Given the description of an element on the screen output the (x, y) to click on. 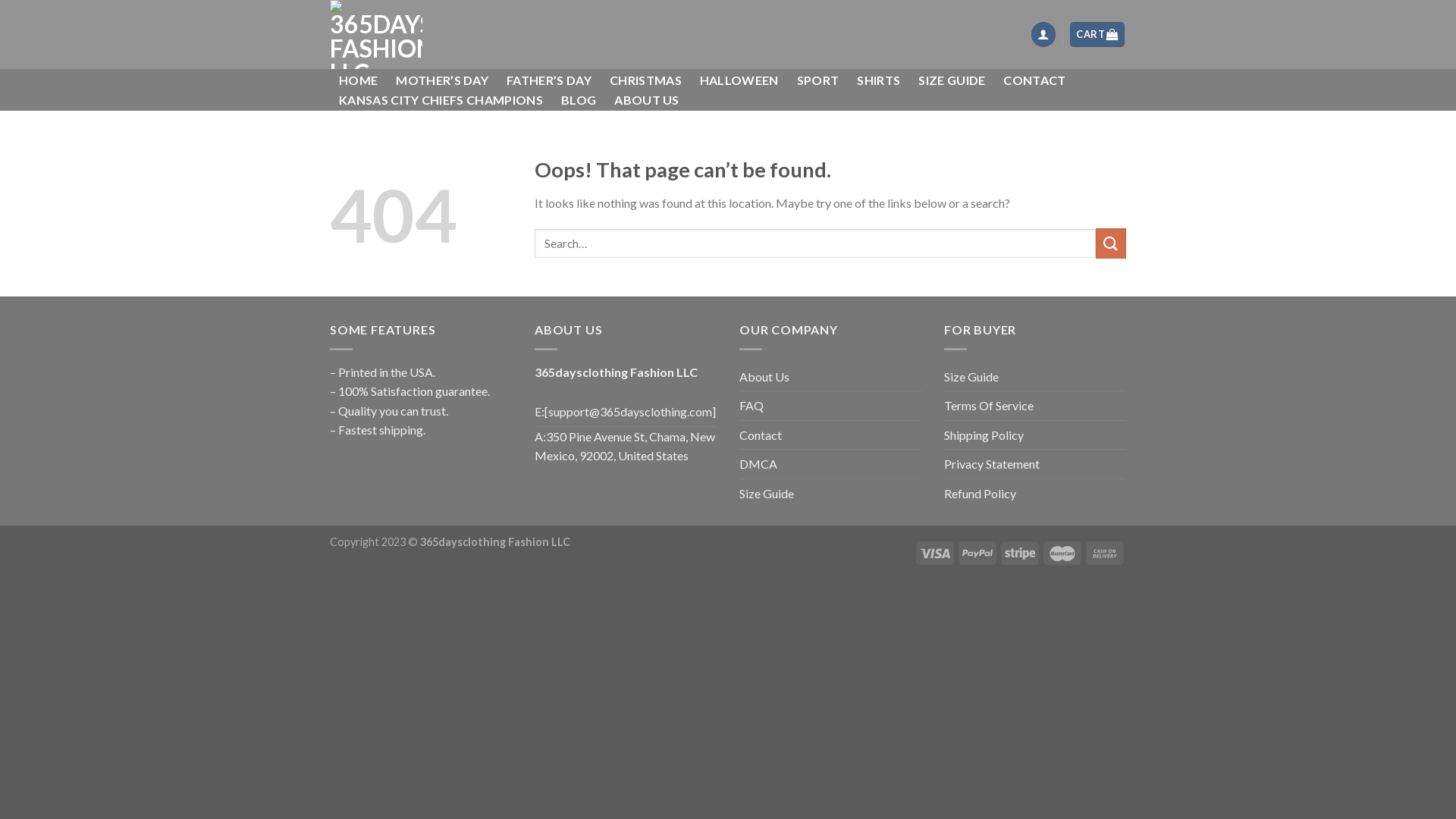
Privacy Statement Element type: text (991, 463)
Refund Policy Element type: text (980, 493)
DMCA Element type: text (758, 463)
About Us Element type: text (764, 376)
CONTACT Element type: text (1034, 80)
CHRISTMAS Element type: text (645, 80)
HOME Element type: text (357, 80)
SIZE GUIDE Element type: text (951, 80)
CART Element type: text (1097, 34)
SPORT Element type: text (817, 80)
KANSAS CITY CHIEFS CHAMPIONS Element type: text (440, 100)
Size Guide Element type: text (766, 493)
ABOUT US Element type: text (646, 100)
[support@365daysclothing.com] Element type: text (629, 411)
365daysclothing Fashion LLC - 365daysclothing Fashion LLC Element type: hover (391, 34)
Contact Element type: text (760, 434)
BLOG Element type: text (578, 100)
SHIRTS Element type: text (878, 80)
Terms Of Service Element type: text (988, 405)
Shipping Policy Element type: text (983, 434)
Size Guide Element type: text (971, 376)
HALLOWEEN Element type: text (738, 80)
FAQ Element type: text (751, 405)
